Given the description of an element on the screen output the (x, y) to click on. 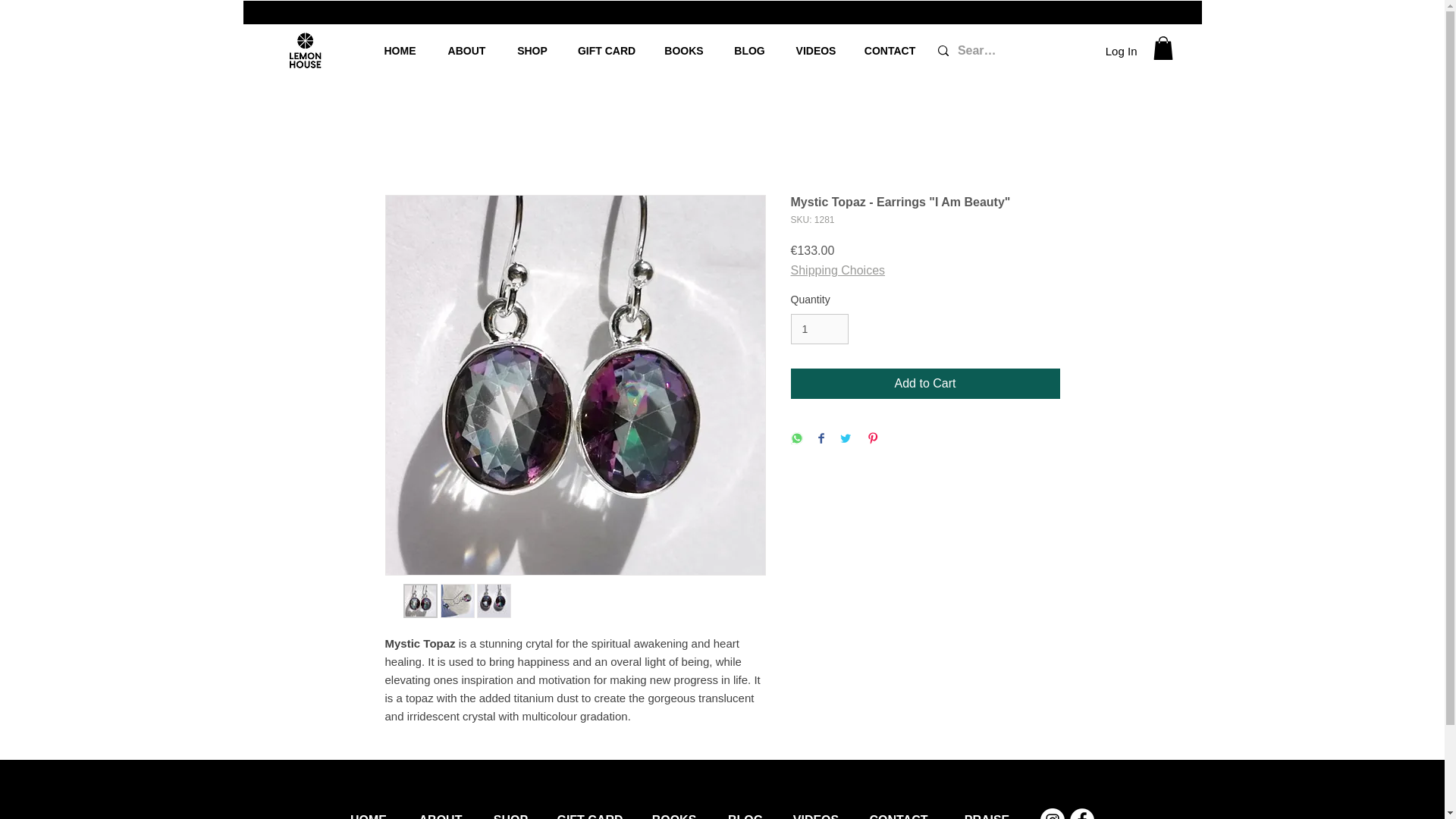
Log In (1121, 50)
CONTACT (889, 50)
GIFT CARD (606, 50)
ABOUT (440, 810)
BOOKS (683, 50)
Shipping Choices (837, 270)
BOOKS (672, 810)
BLOG (749, 50)
ABOUT (466, 50)
HOME (368, 810)
